Given the description of an element on the screen output the (x, y) to click on. 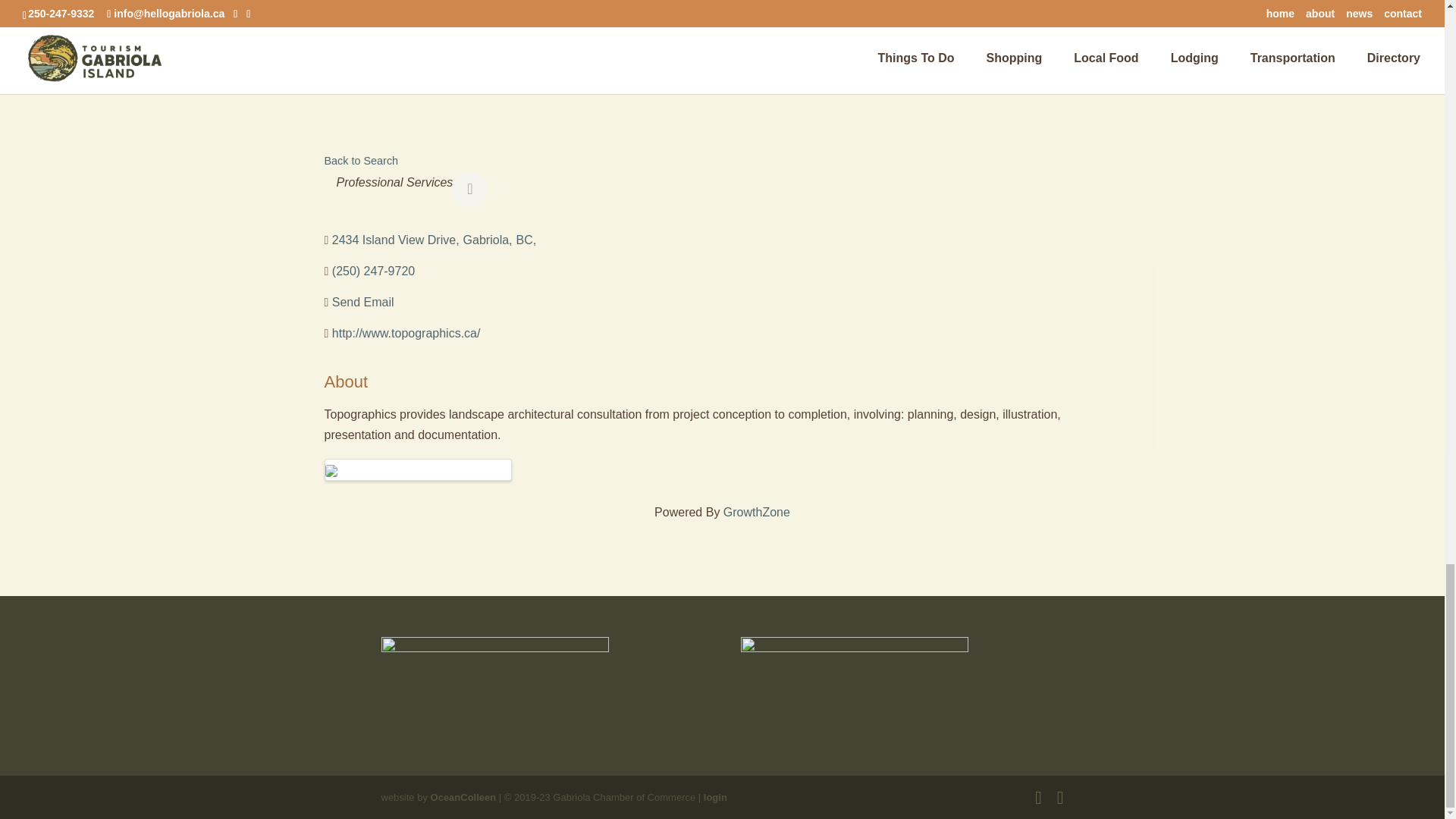
Back to Search (361, 160)
